Given the description of an element on the screen output the (x, y) to click on. 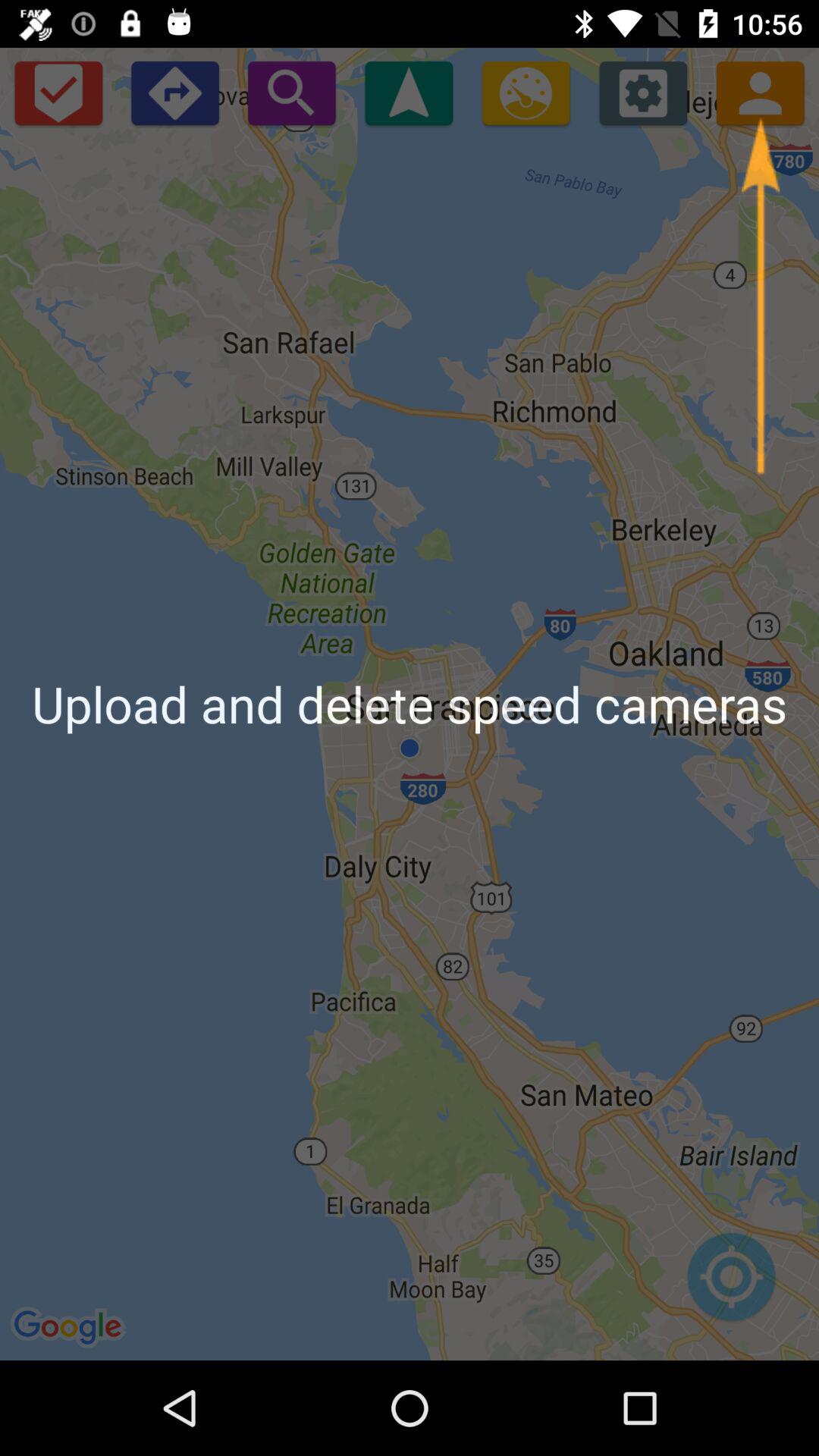
map directions finder (731, 1284)
